Given the description of an element on the screen output the (x, y) to click on. 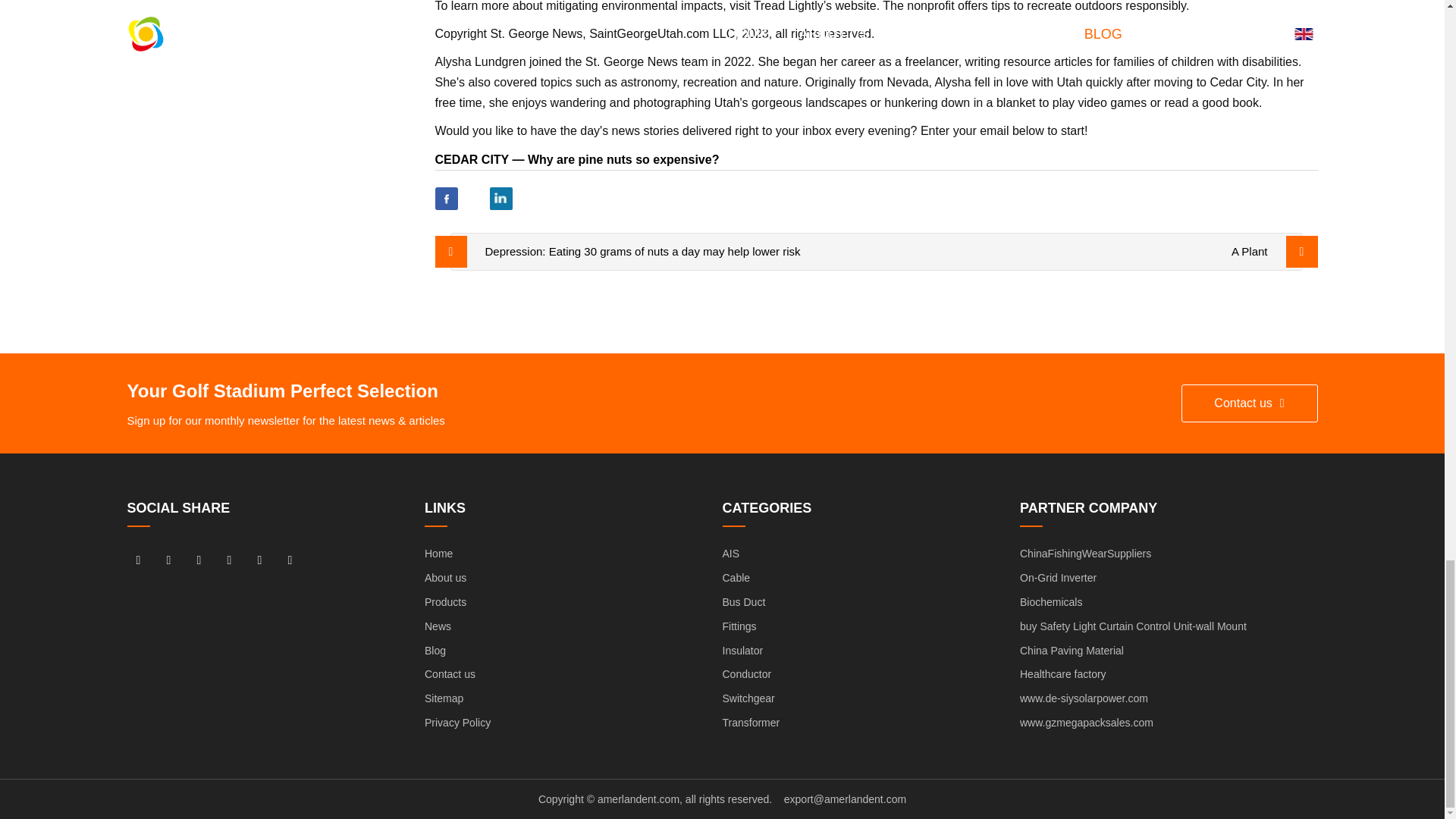
Facebook (446, 198)
Print (555, 198)
facebook (138, 558)
linkedin (168, 558)
Pinterest (528, 198)
Linkedin (500, 198)
Twitter (473, 198)
twitter (199, 558)
youtube (229, 558)
A Plant (1249, 250)
